Given the description of an element on the screen output the (x, y) to click on. 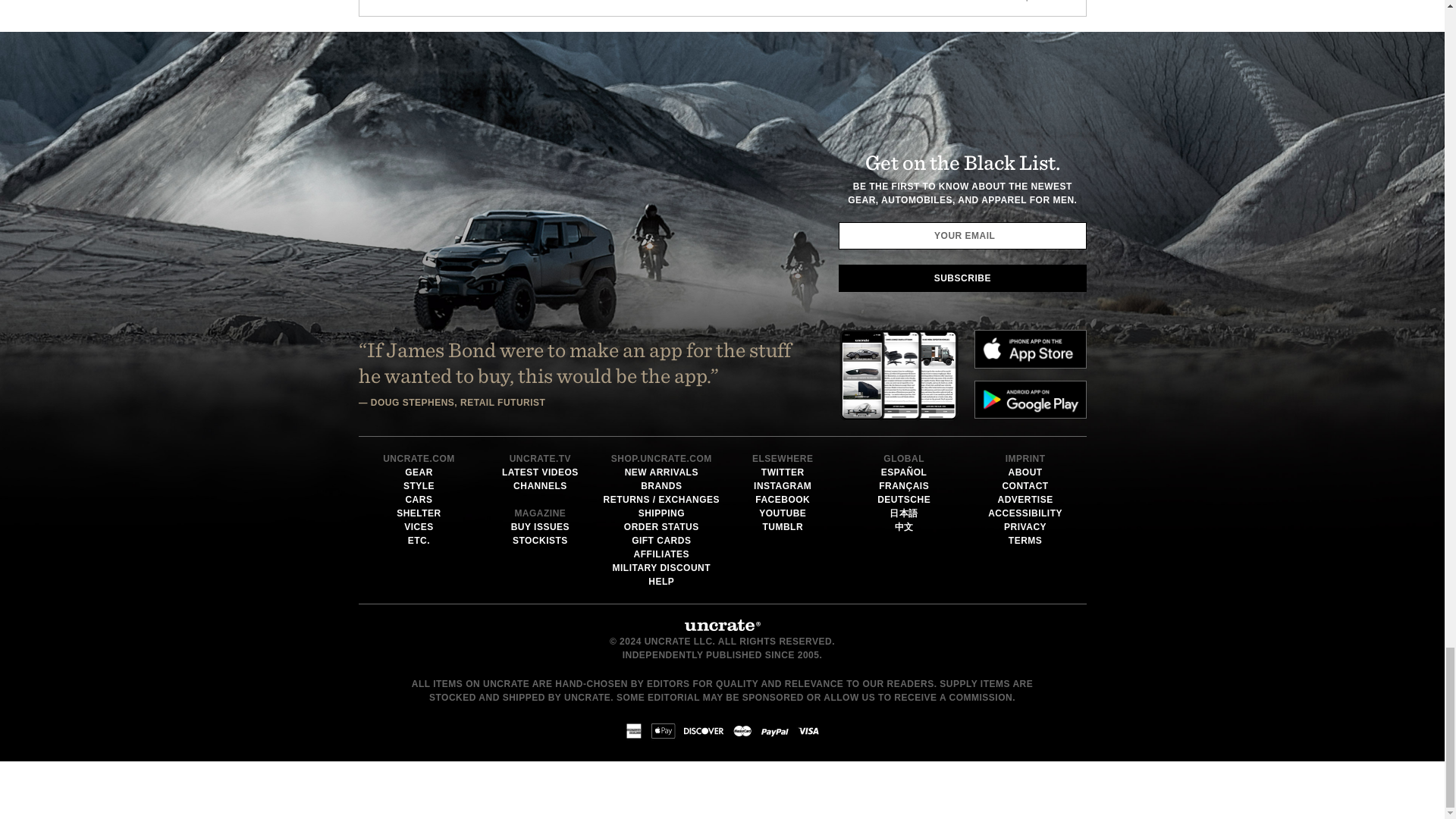
Subscribe (962, 277)
